Given the description of an element on the screen output the (x, y) to click on. 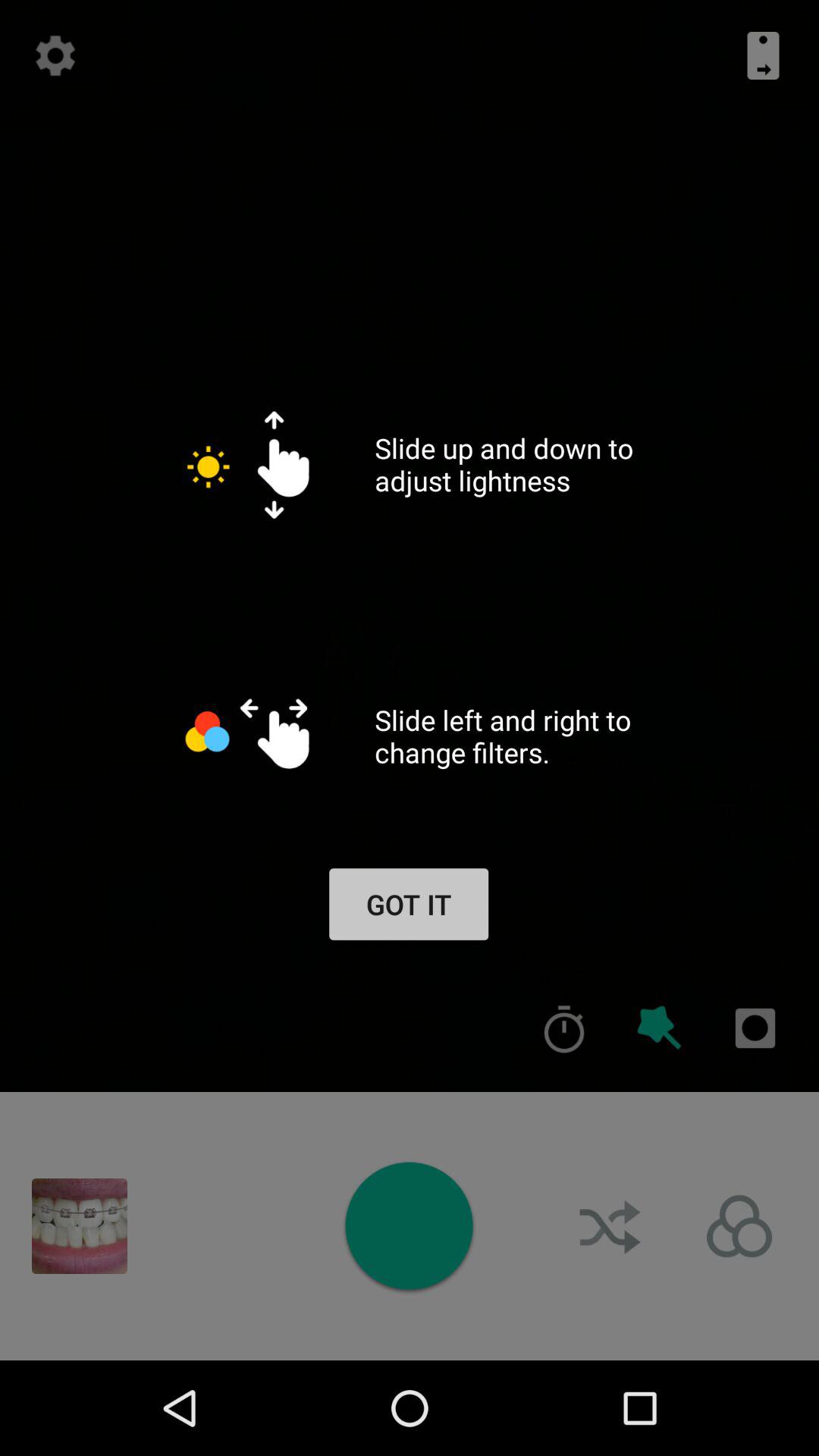
settings (55, 55)
